Given the description of an element on the screen output the (x, y) to click on. 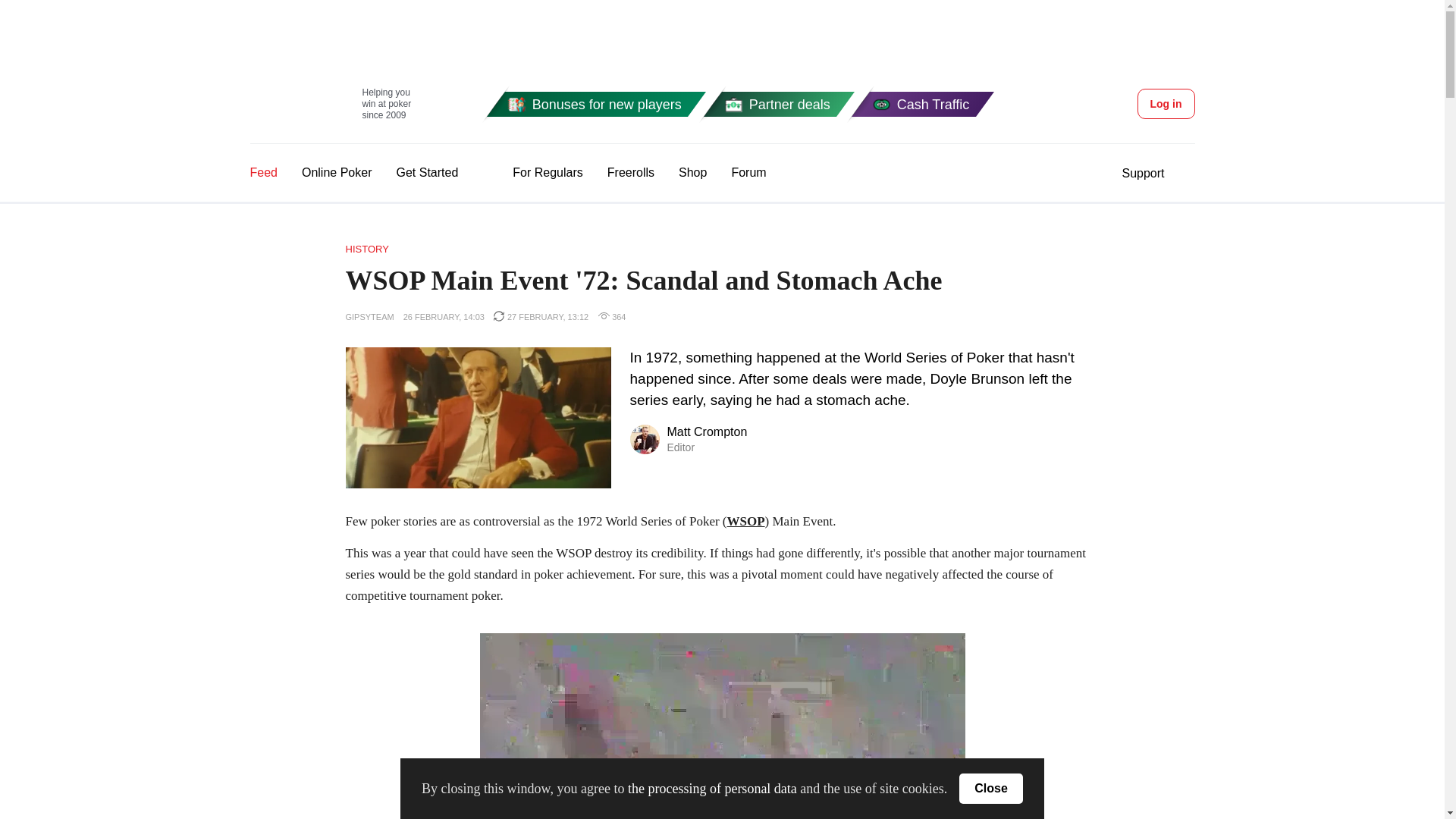
Feed (264, 172)
Forum (747, 172)
Shop (692, 172)
Freerolls (740, 103)
Support (630, 172)
For Regulars (1142, 172)
Log in (687, 439)
WSOP (531, 172)
Online Poker (1166, 103)
Get Started (331, 103)
